Given the description of an element on the screen output the (x, y) to click on. 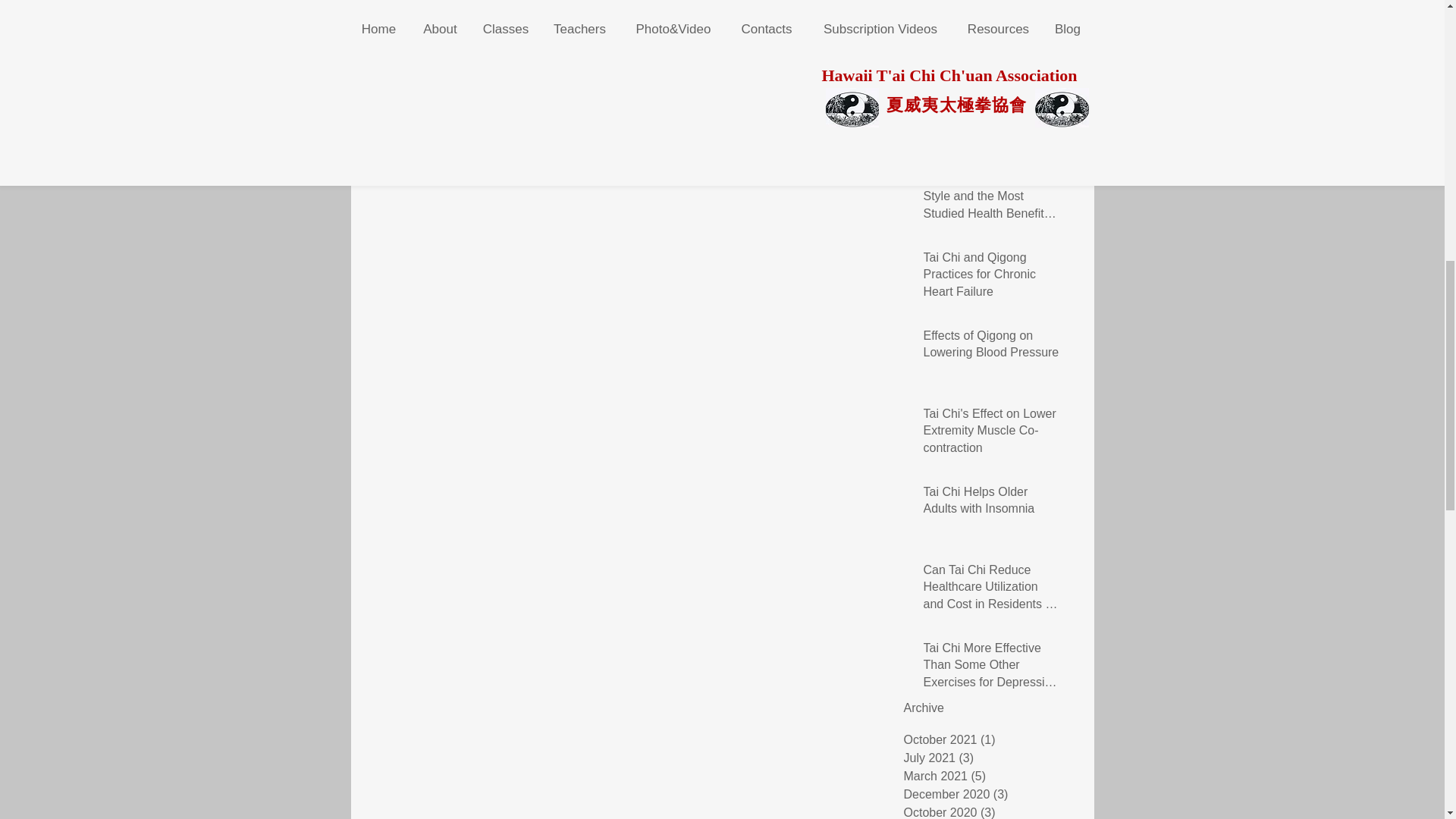
Tai Chi Helps Older Adults with Insomnia (992, 504)
Effects of Qigong on Lowering Blood Pressure (992, 347)
Tai Chi's Effect on Lower Extremity Muscle Co-contraction (992, 433)
Tai Chi and Qigong Practices for Chronic Heart Failure (992, 277)
Post not marked as liked (835, 43)
